Given the description of an element on the screen output the (x, y) to click on. 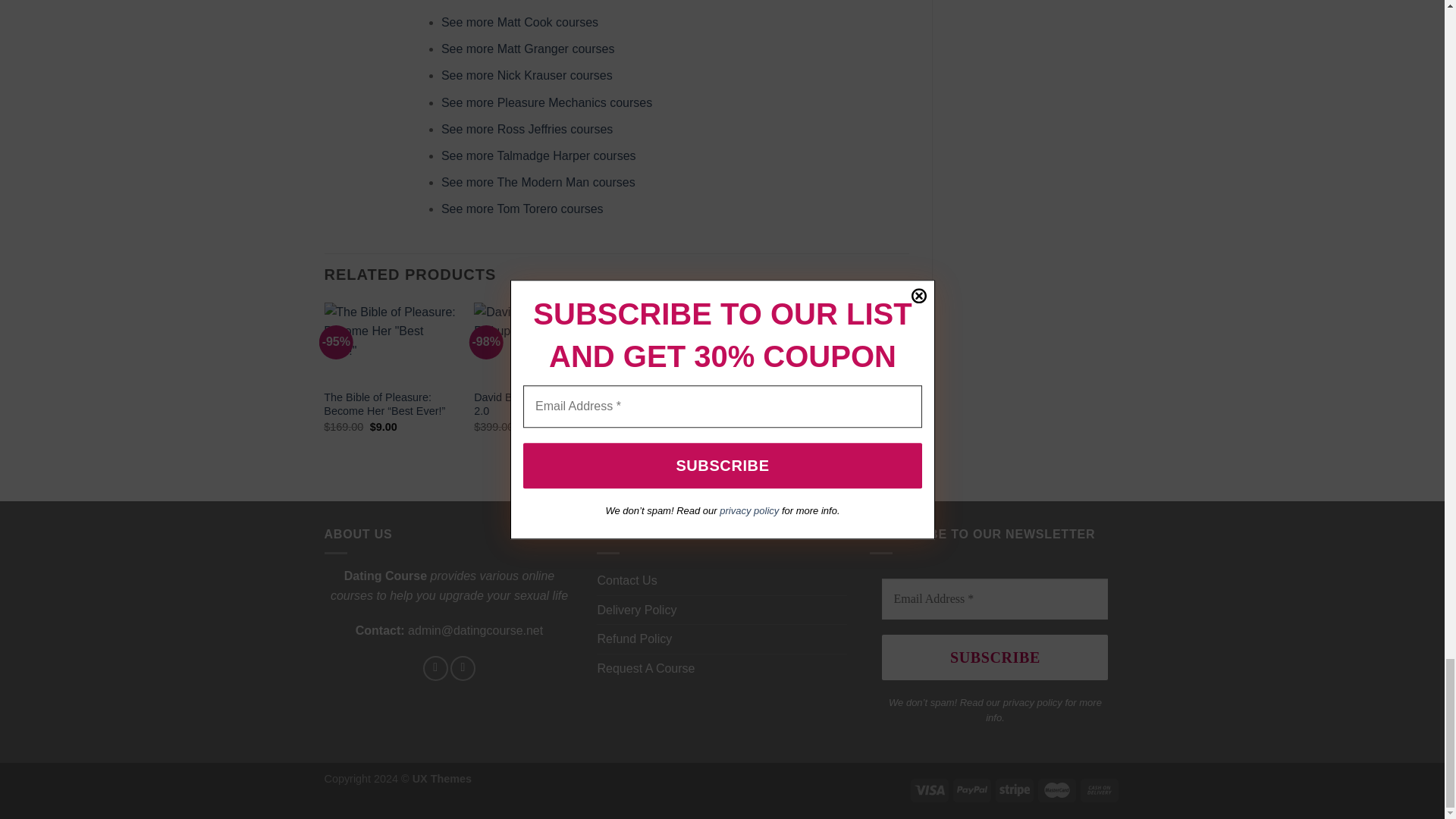
SUBSCRIBE (995, 657)
Email Address (995, 598)
